Given the description of an element on the screen output the (x, y) to click on. 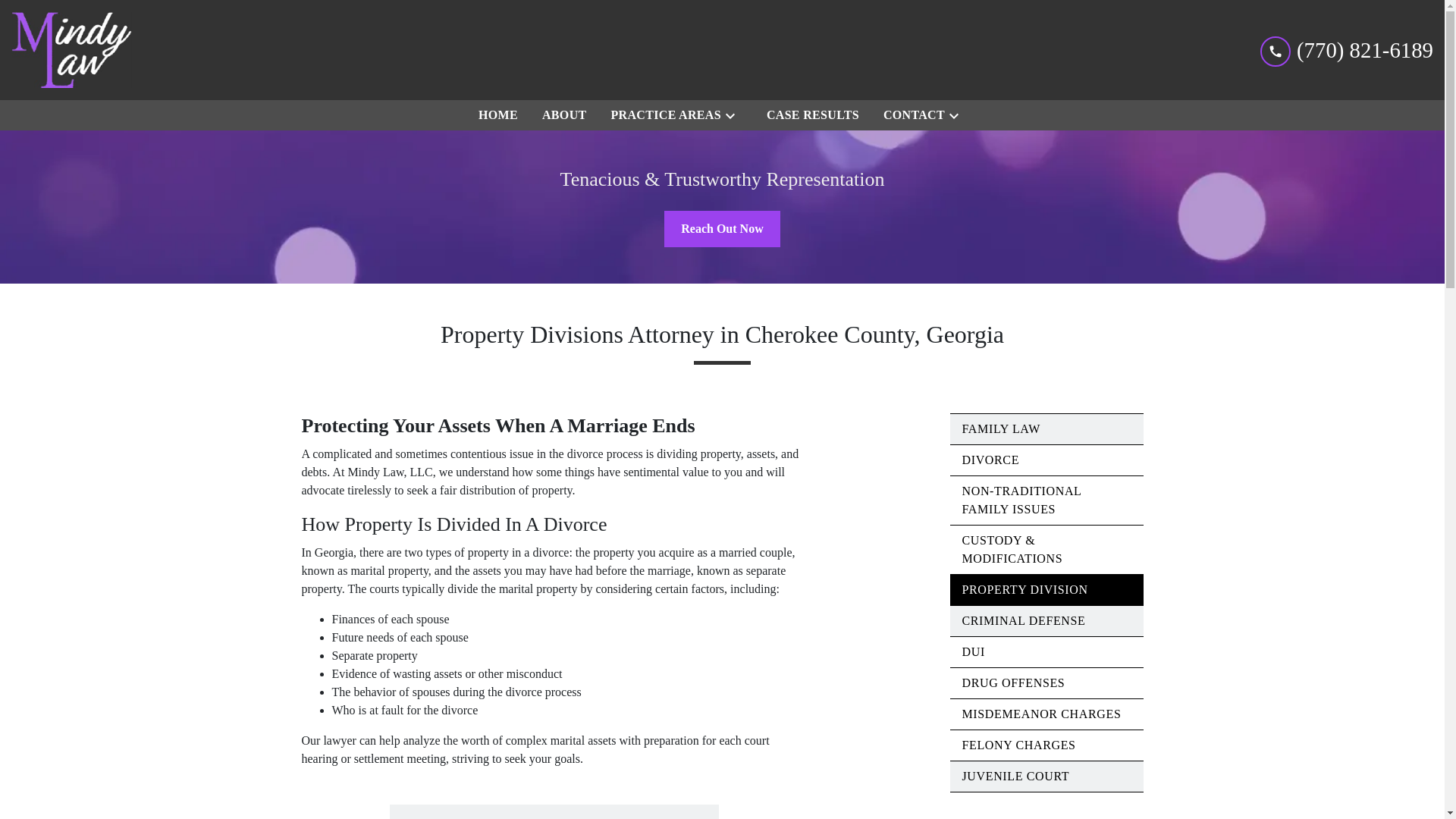
JUVENILE COURT (1045, 776)
PROPERTY DIVISION (1045, 589)
Reach Out Now (720, 228)
FELONY CHARGES (1045, 745)
CONTACT (910, 114)
HOME (497, 114)
PRACTICE AREAS (662, 114)
DIVORCE (1045, 460)
DUI (1045, 652)
DRUG OFFENSES (1045, 683)
